Given the description of an element on the screen output the (x, y) to click on. 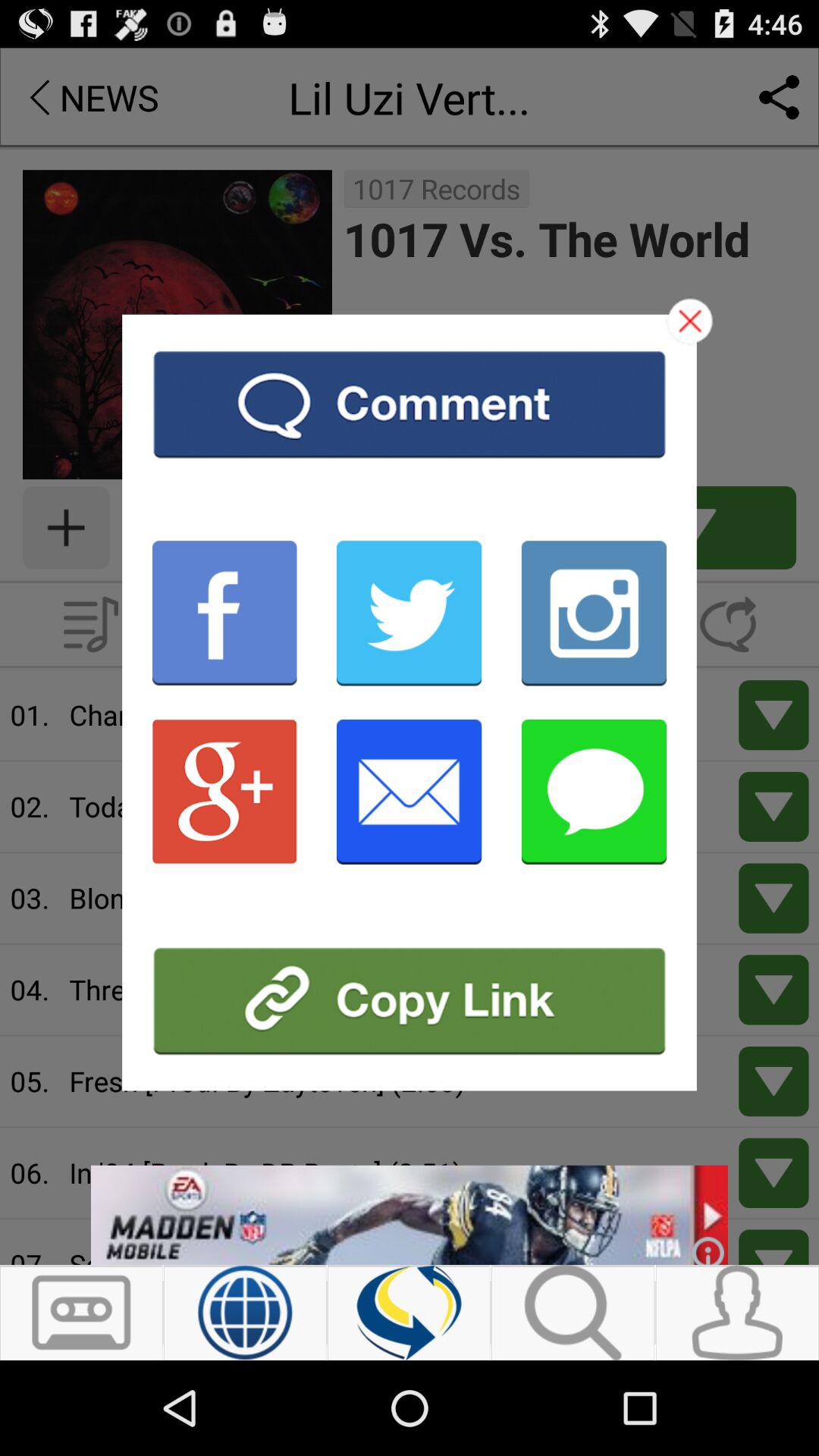
add comment (409, 403)
